Given the description of an element on the screen output the (x, y) to click on. 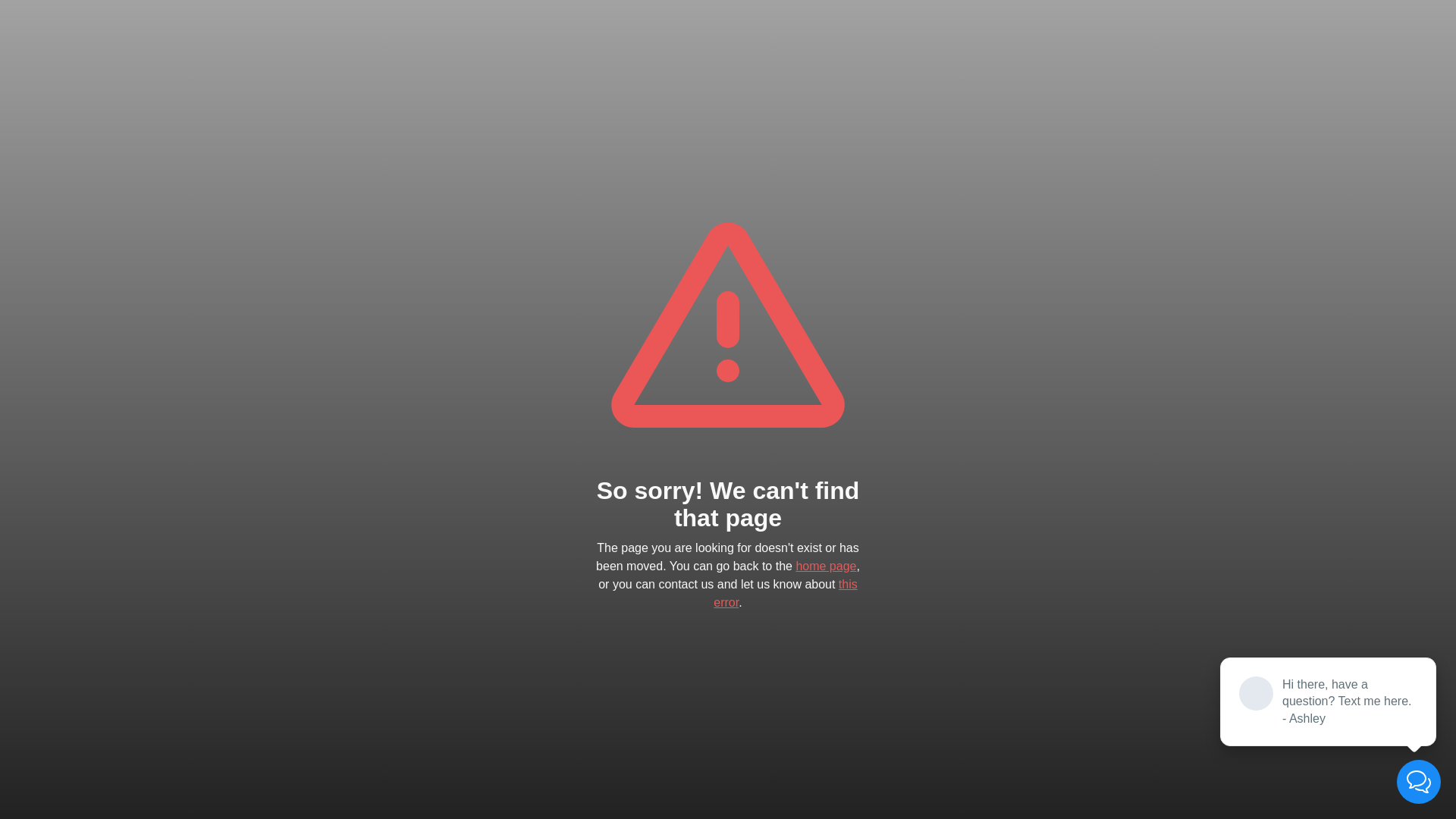
home page Element type: text (825, 565)
this error Element type: text (784, 592)
